Given the description of an element on the screen output the (x, y) to click on. 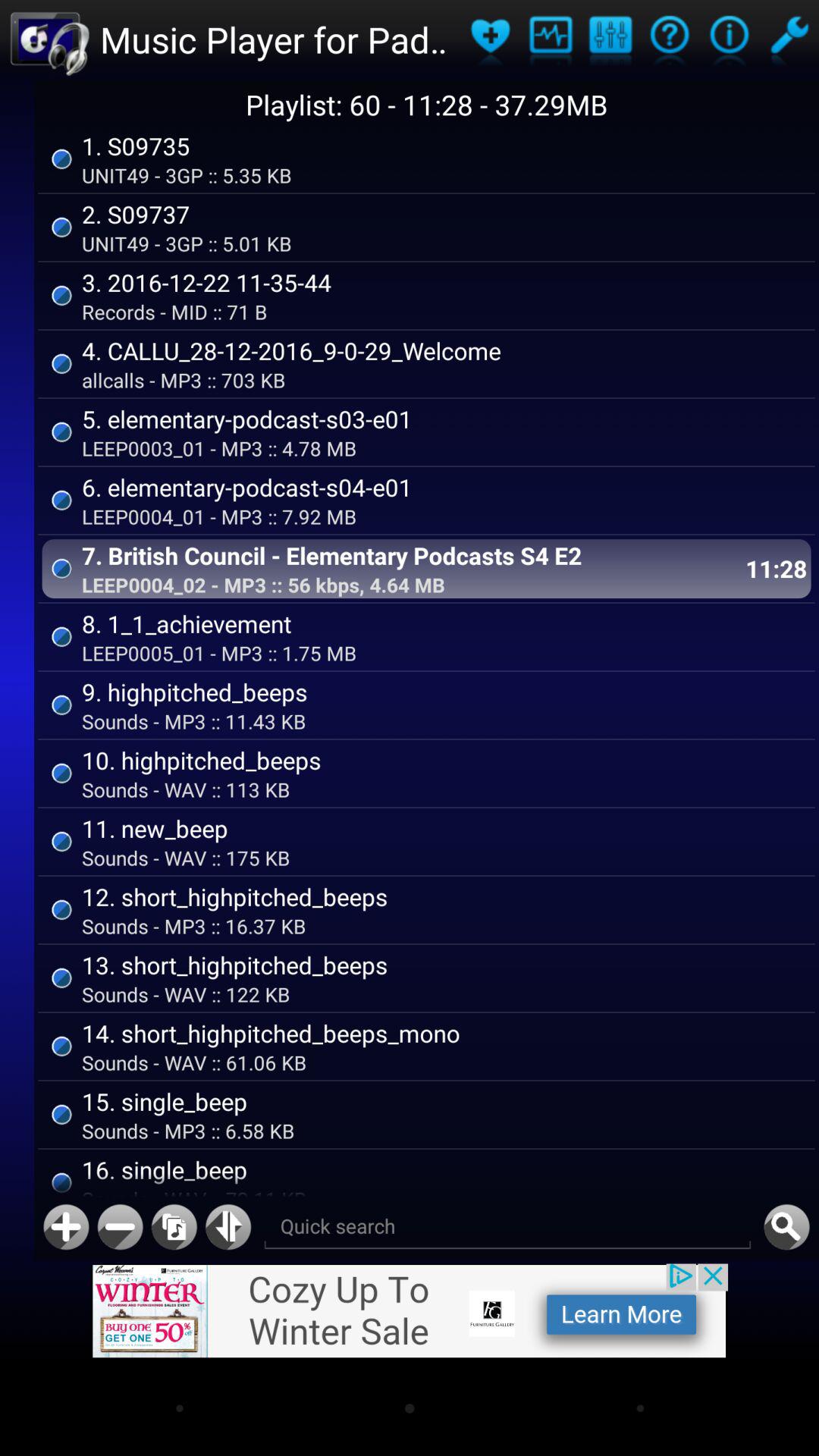
settings swich option (789, 39)
